Given the description of an element on the screen output the (x, y) to click on. 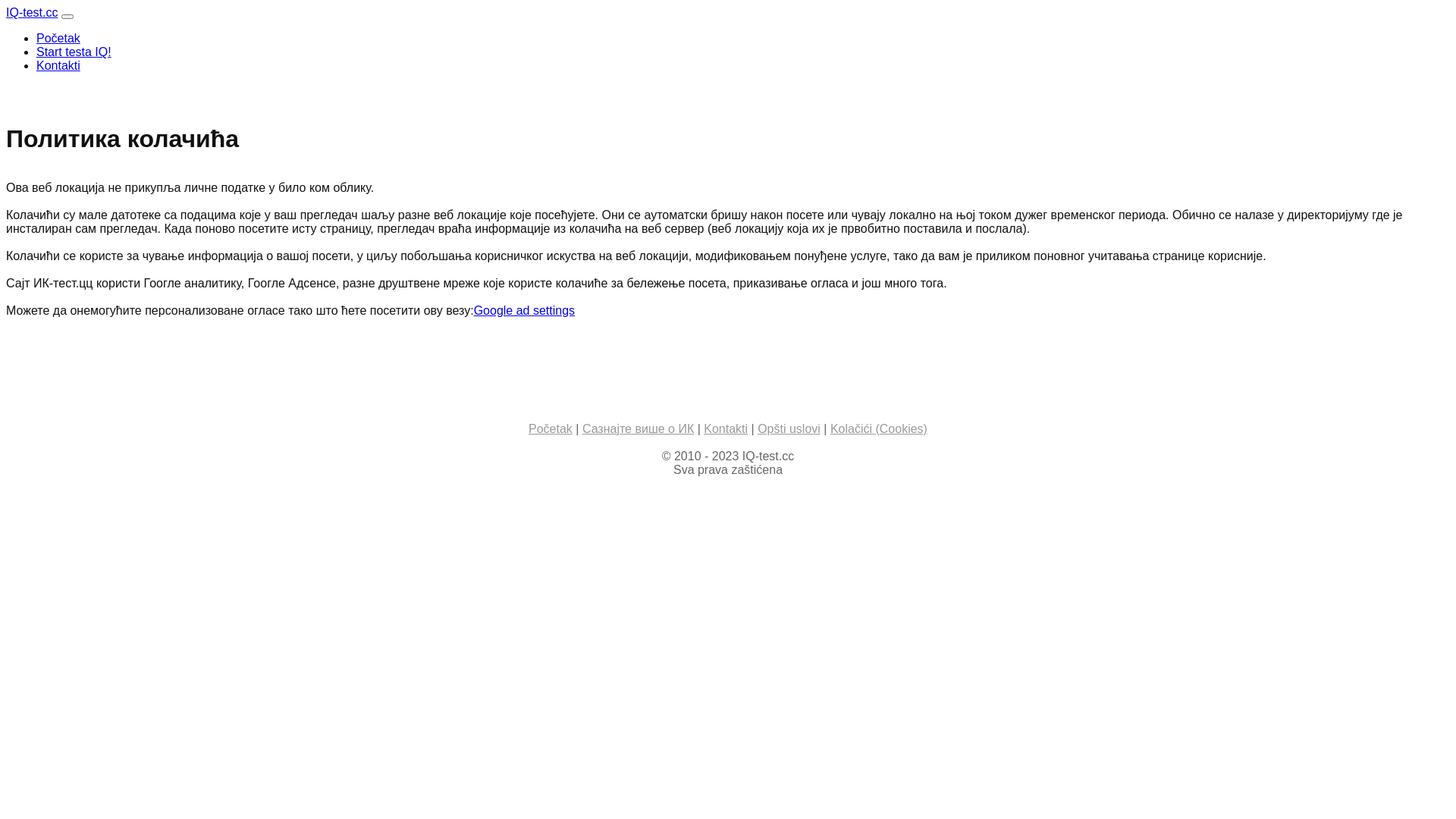
Kontakti Element type: text (58, 65)
Google ad settings Element type: text (523, 310)
Start testa IQ! Element type: text (73, 51)
Kontakti Element type: text (725, 428)
IQ-test.cc Element type: text (31, 12)
